Given the description of an element on the screen output the (x, y) to click on. 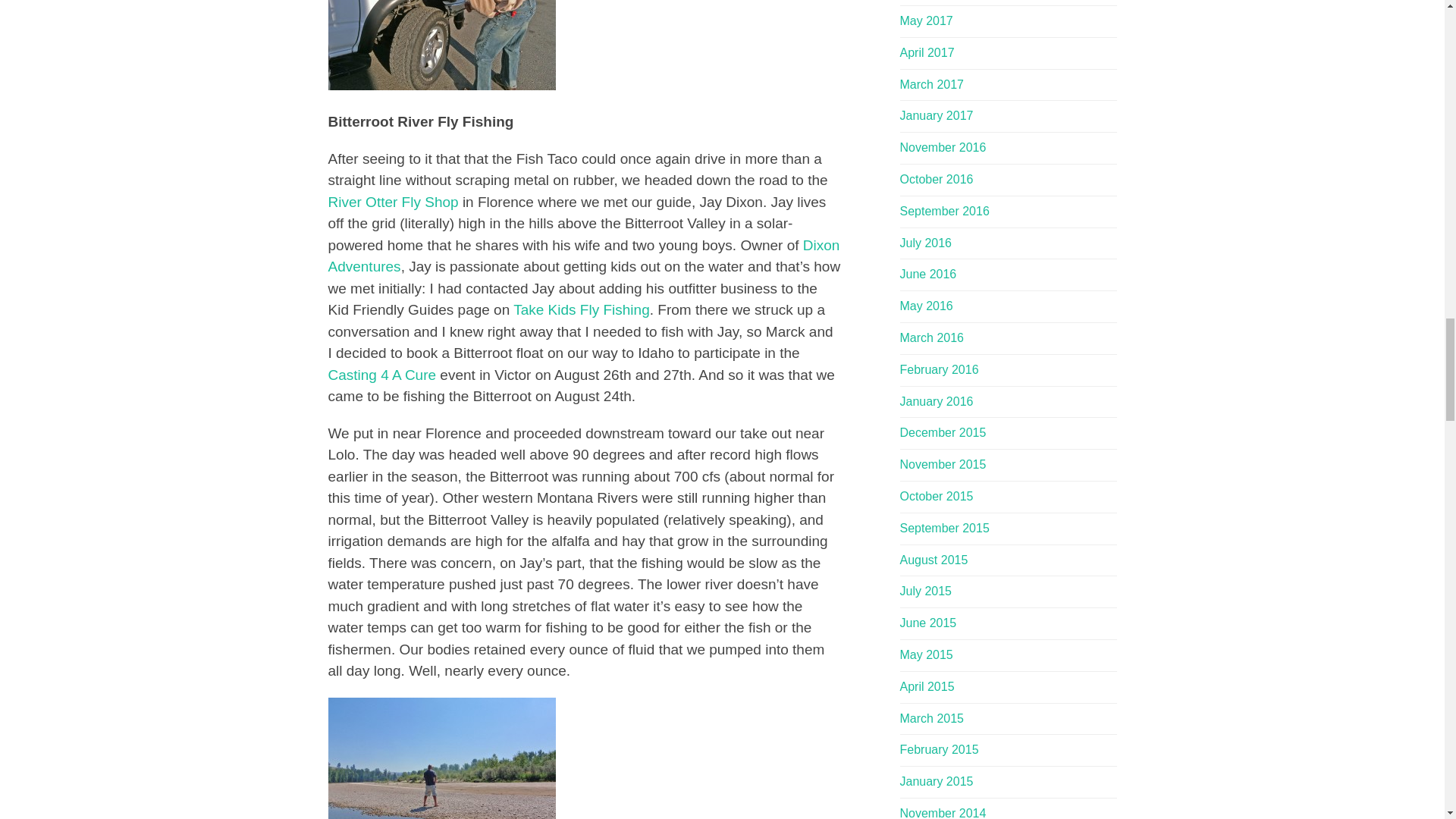
Casting 4 A Cure (381, 374)
Take Kids Fly Fishing (581, 309)
Dixon Adventures (583, 256)
OLYMPUS DIGITAL CAMERA (440, 758)
River Otter Fly Shop (394, 201)
